Given the description of an element on the screen output the (x, y) to click on. 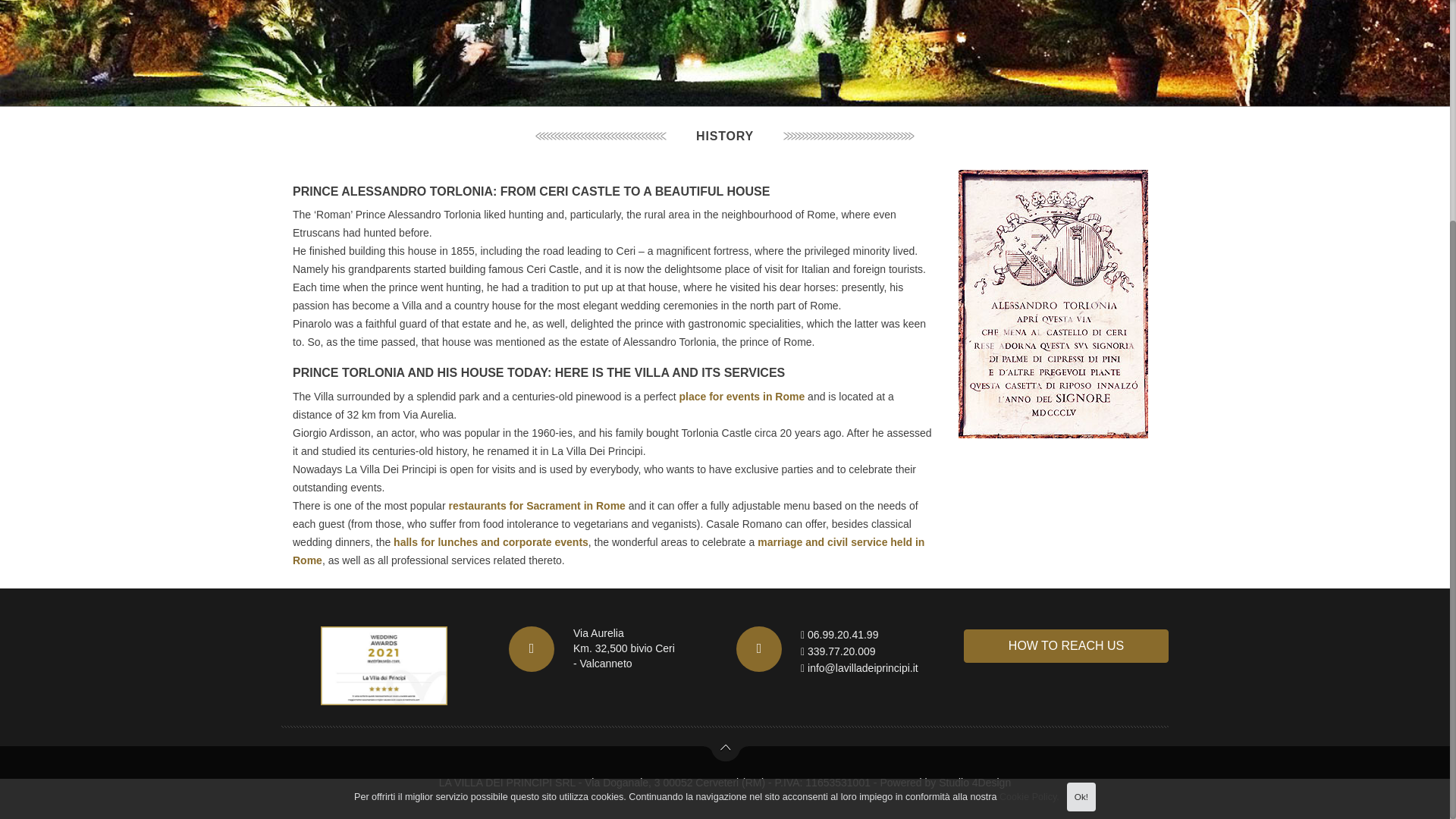
restaurants for Sacrament in Rome (536, 505)
HOW TO REACH US (1066, 645)
halls for lunches and corporate events (490, 541)
marriage and civil service held in Rome (608, 551)
btn-top (725, 751)
Cookie Policy. (1028, 494)
place for events in Rome (742, 396)
06.99.20.41.99 (842, 634)
339.77.20.009 (842, 651)
